Given the description of an element on the screen output the (x, y) to click on. 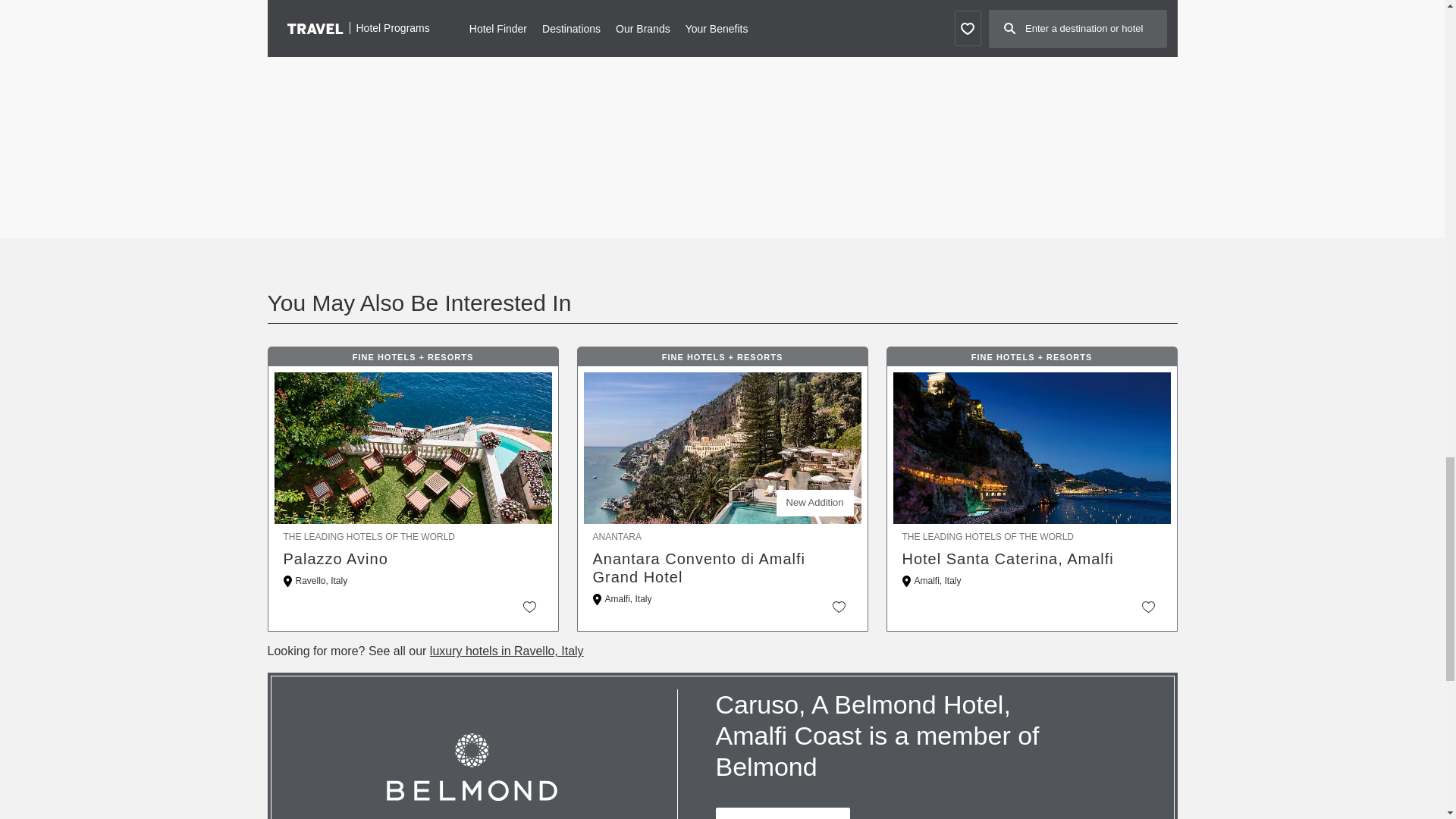
Hotel Santa Caterina, Amalfi (1031, 558)
Anantara Convento di Amalfi Grand Hotel (721, 567)
Explore the Brand (783, 813)
Palazzo Avino (413, 558)
luxury hotels in Ravello, Italy (506, 650)
